Given the description of an element on the screen output the (x, y) to click on. 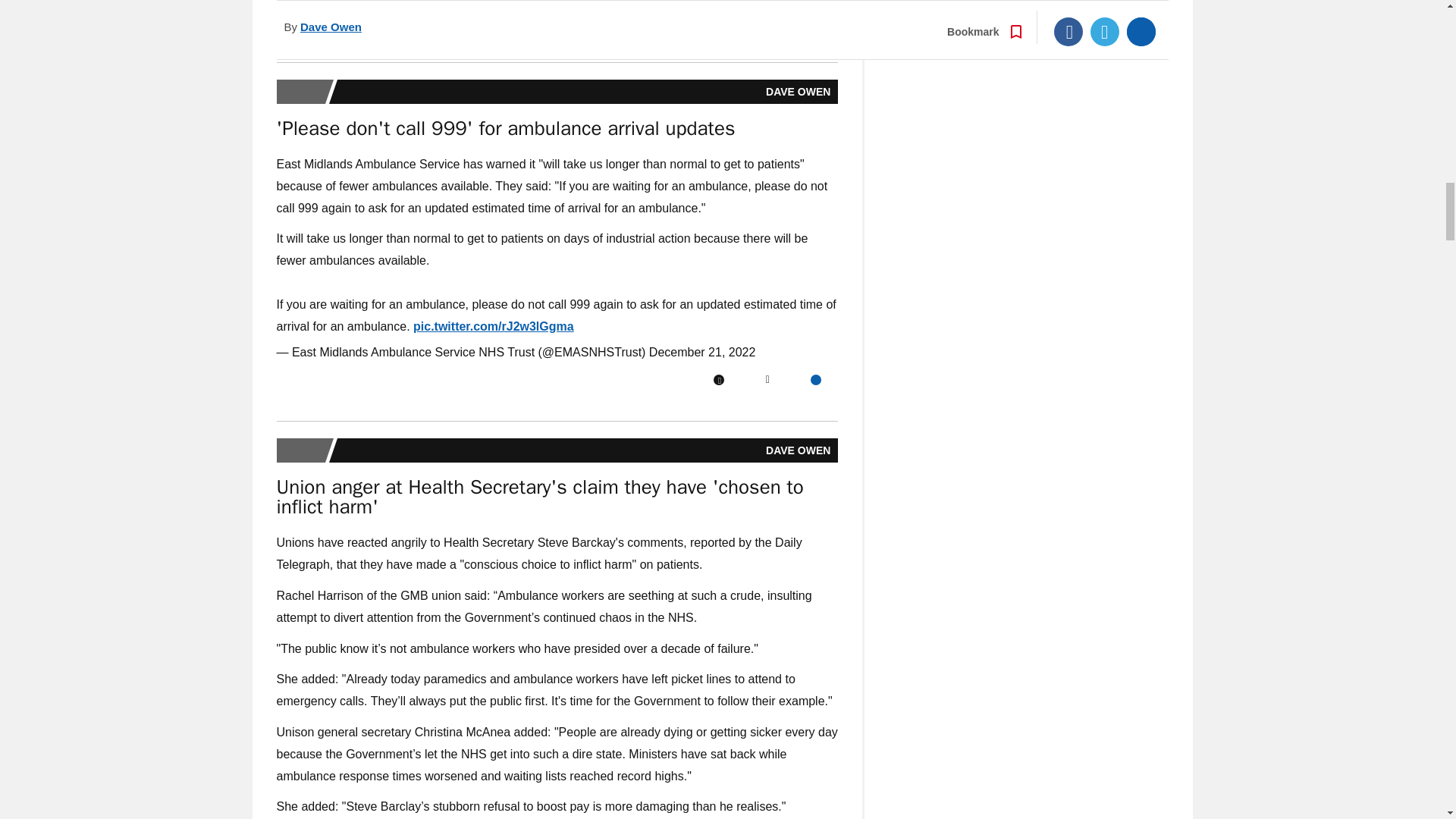
Twitter (767, 20)
Facebook (718, 379)
Twitter (767, 379)
Facebook (718, 20)
